Given the description of an element on the screen output the (x, y) to click on. 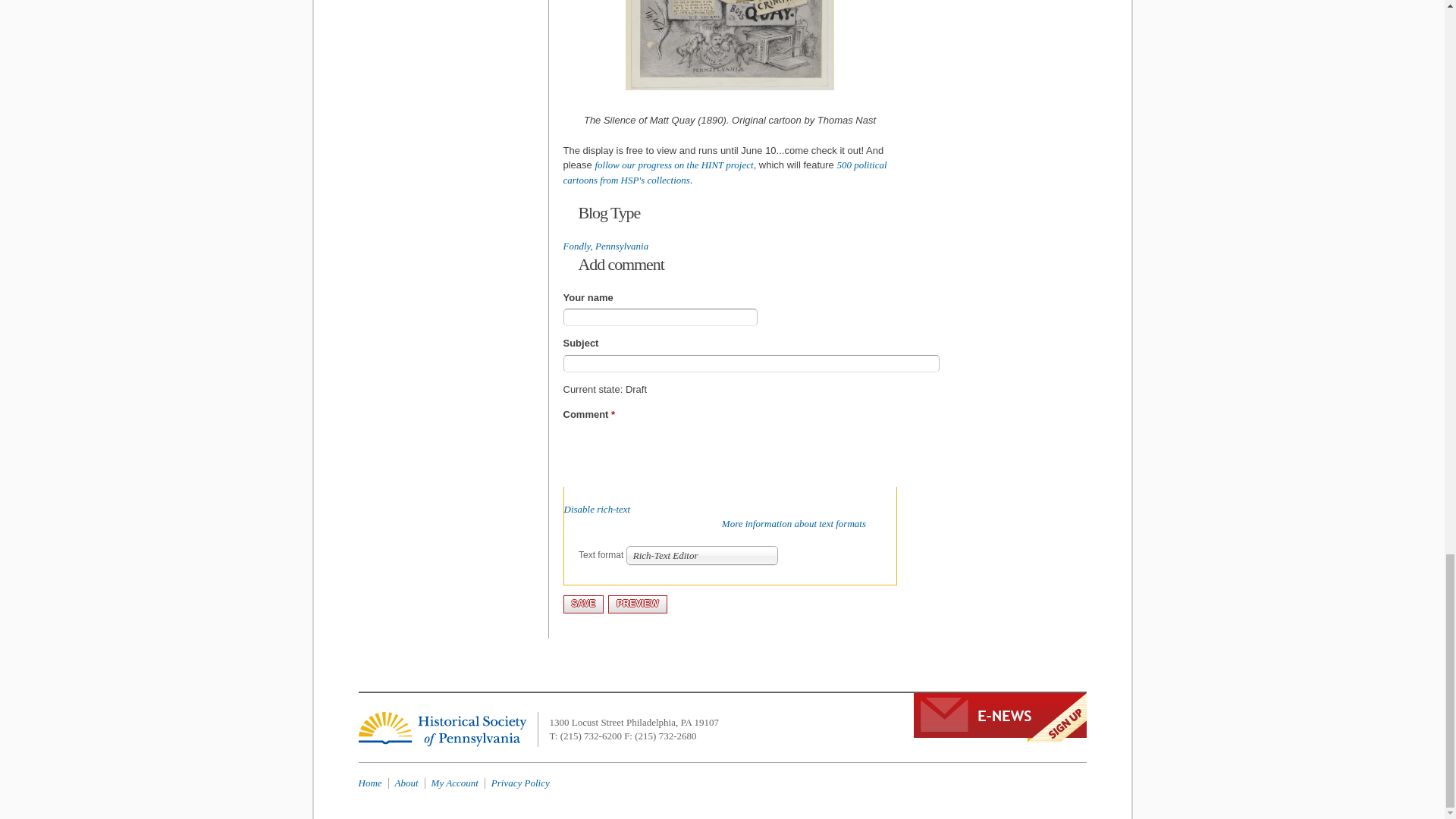
Save (583, 603)
Preview (637, 603)
